Given the description of an element on the screen output the (x, y) to click on. 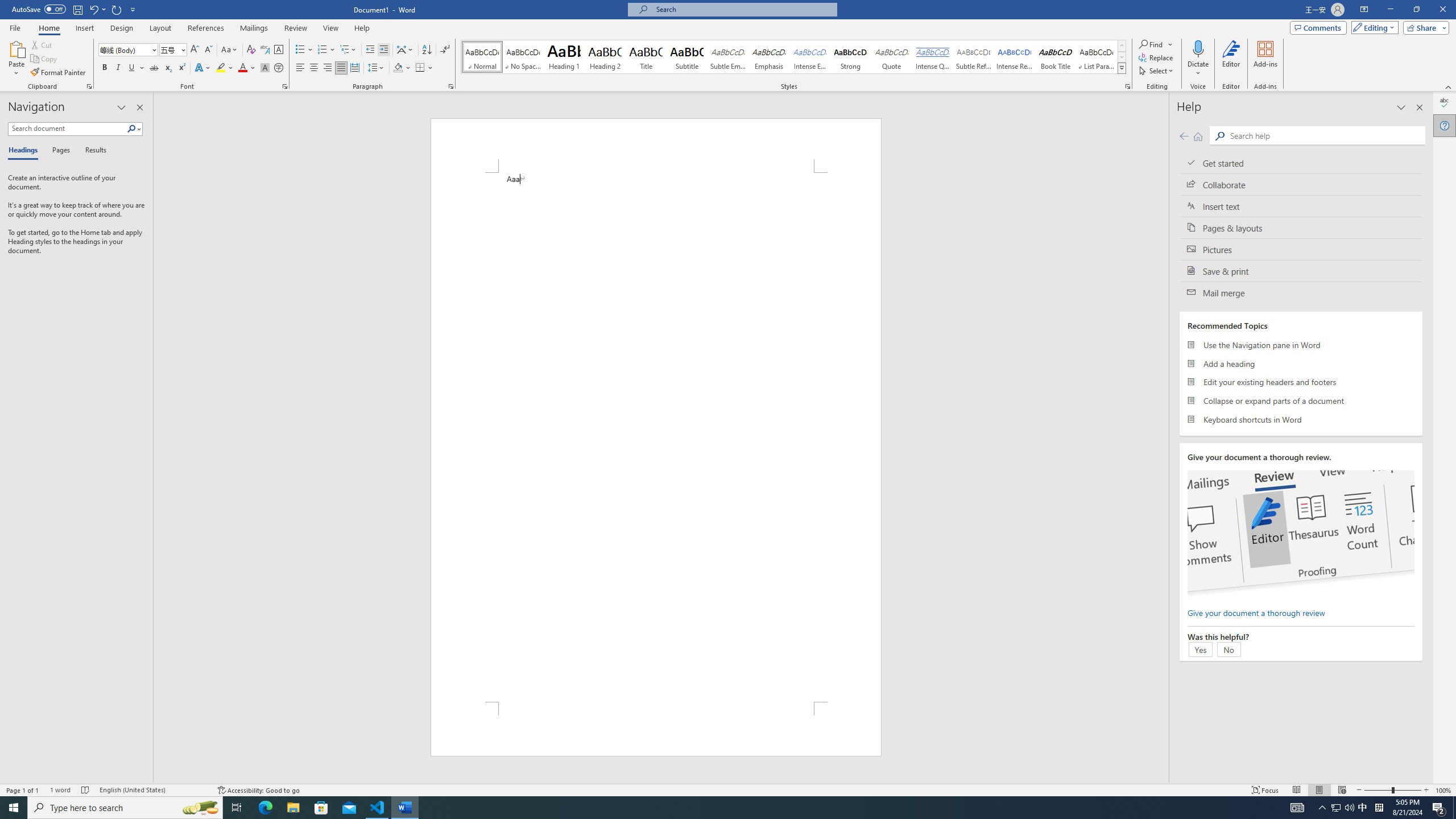
Give your document a thorough review (1256, 611)
